Given the description of an element on the screen output the (x, y) to click on. 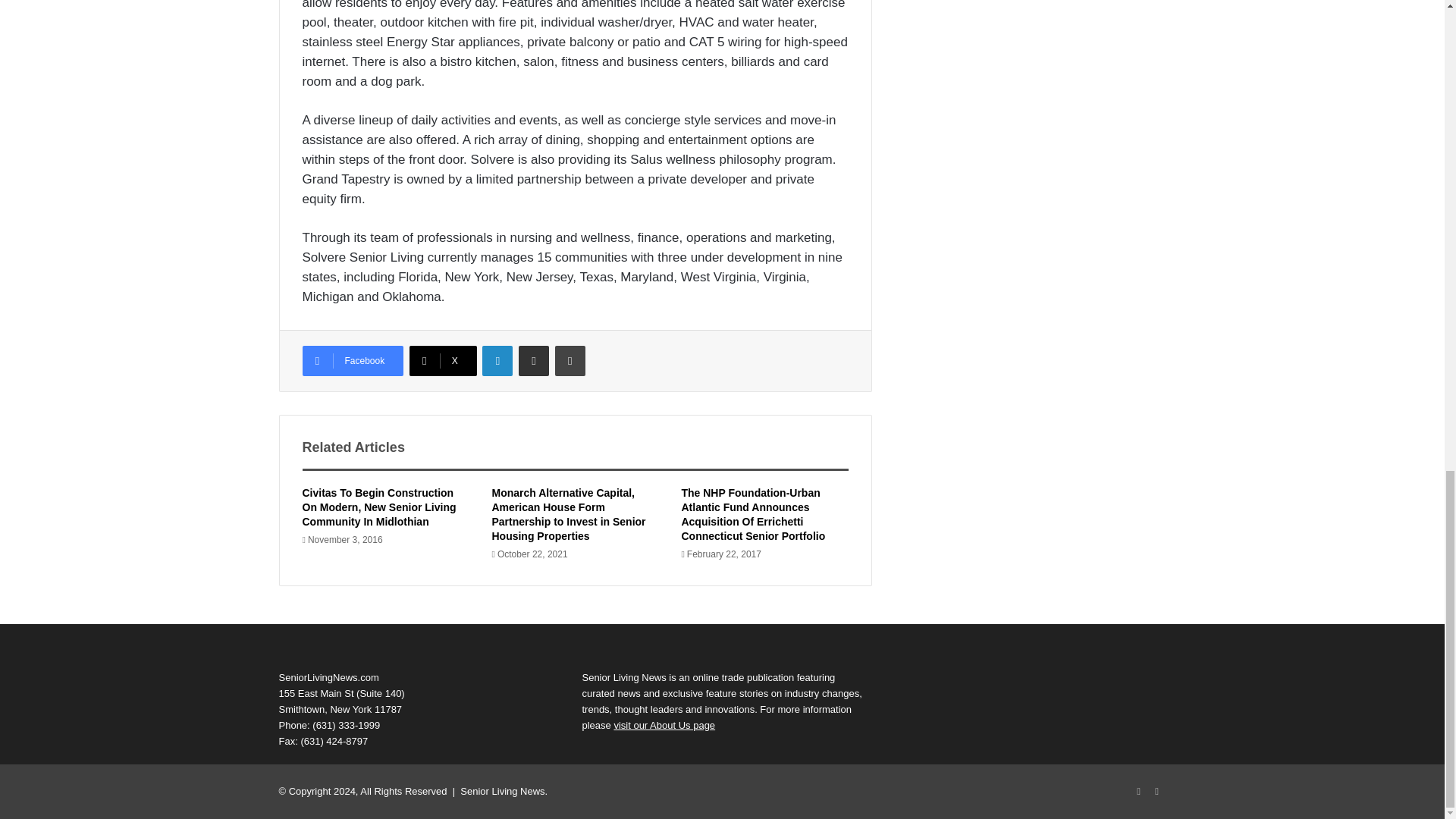
Print (569, 360)
Share via Email (533, 360)
Facebook (1138, 791)
LinkedIn (496, 360)
visit our About Us page (663, 725)
X (443, 360)
Facebook (352, 360)
Print (569, 360)
